Given the description of an element on the screen output the (x, y) to click on. 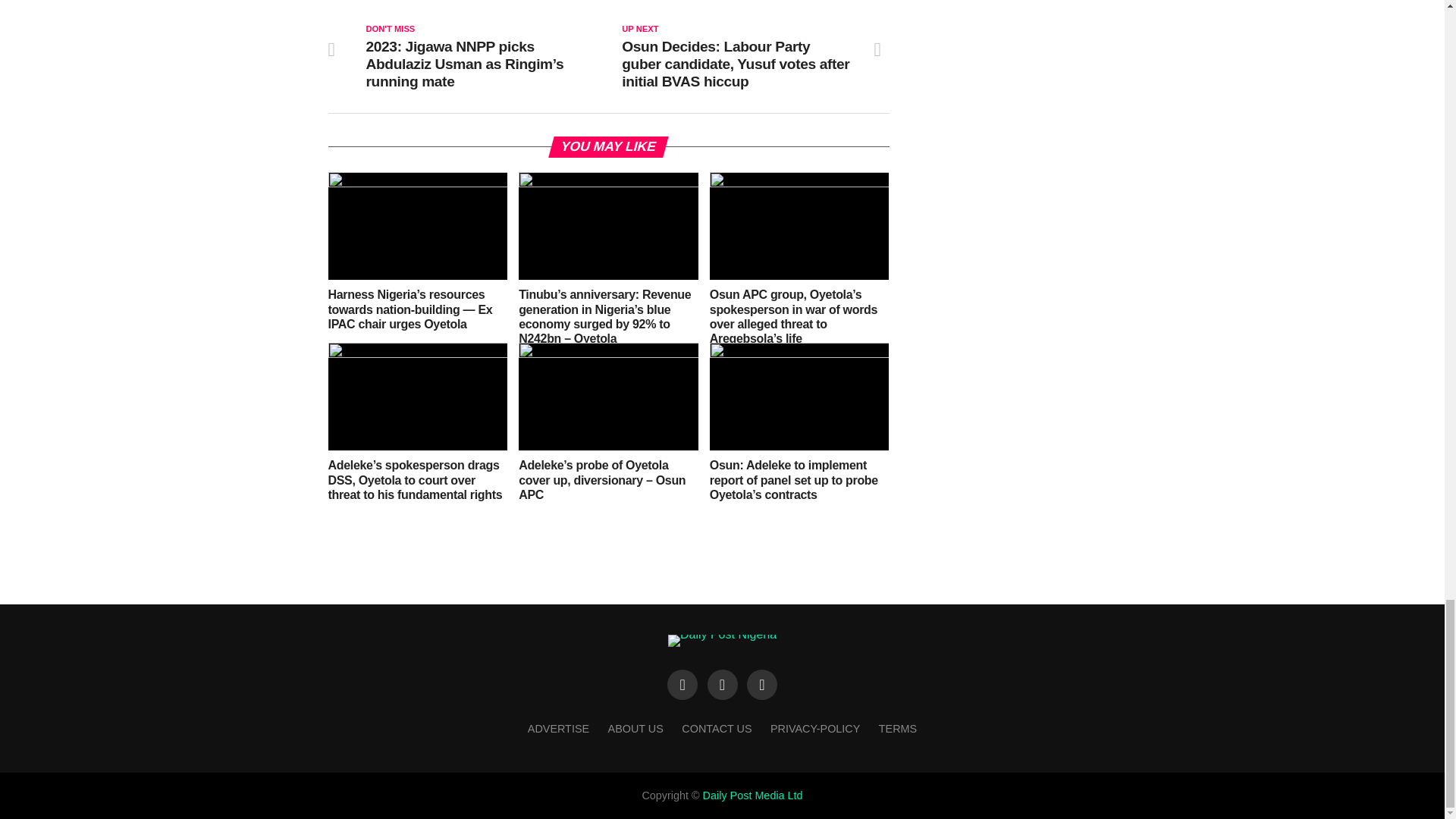
ADVERTISE (558, 728)
